Given the description of an element on the screen output the (x, y) to click on. 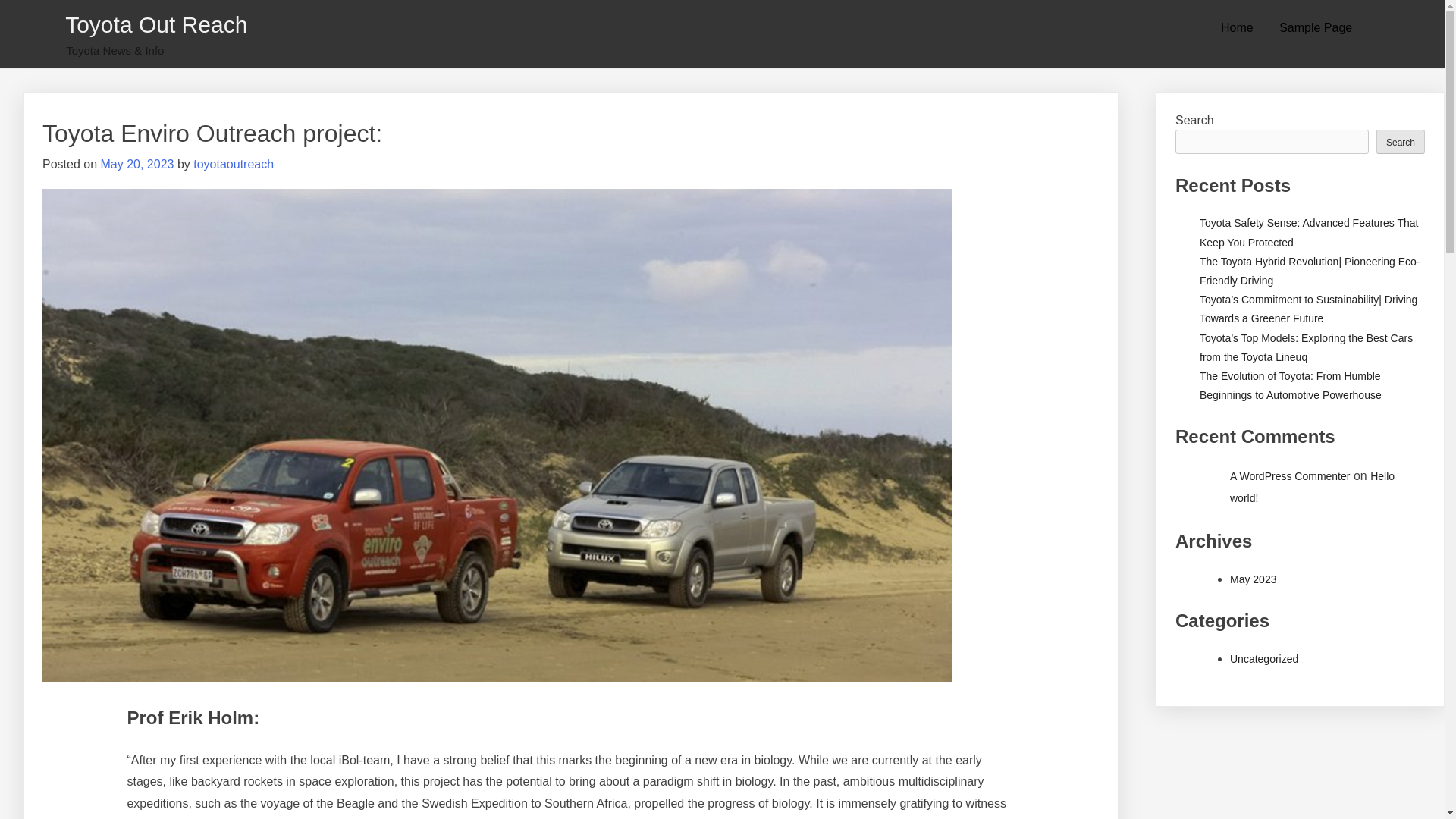
Toyota Out Reach (156, 24)
Search (1400, 140)
Home (1237, 28)
Sample Page (1315, 28)
toyotaoutreach (233, 164)
May 2023 (1253, 579)
A WordPress Commenter (1289, 476)
Hello world! (1312, 487)
